Given the description of an element on the screen output the (x, y) to click on. 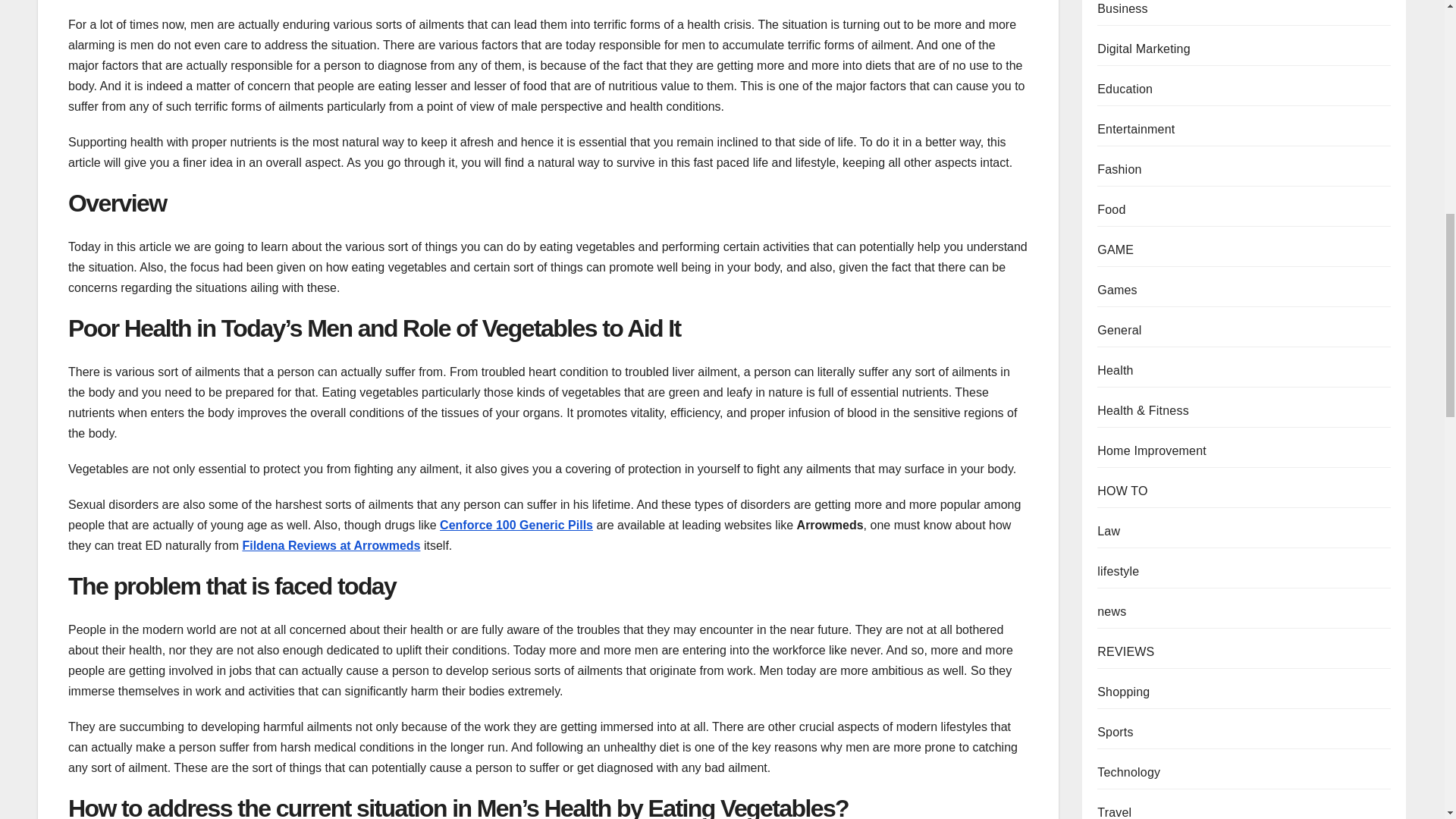
Cenforce 100 Generic Pills (515, 524)
Fildena Reviews at Arrowmeds (330, 545)
